Given the description of an element on the screen output the (x, y) to click on. 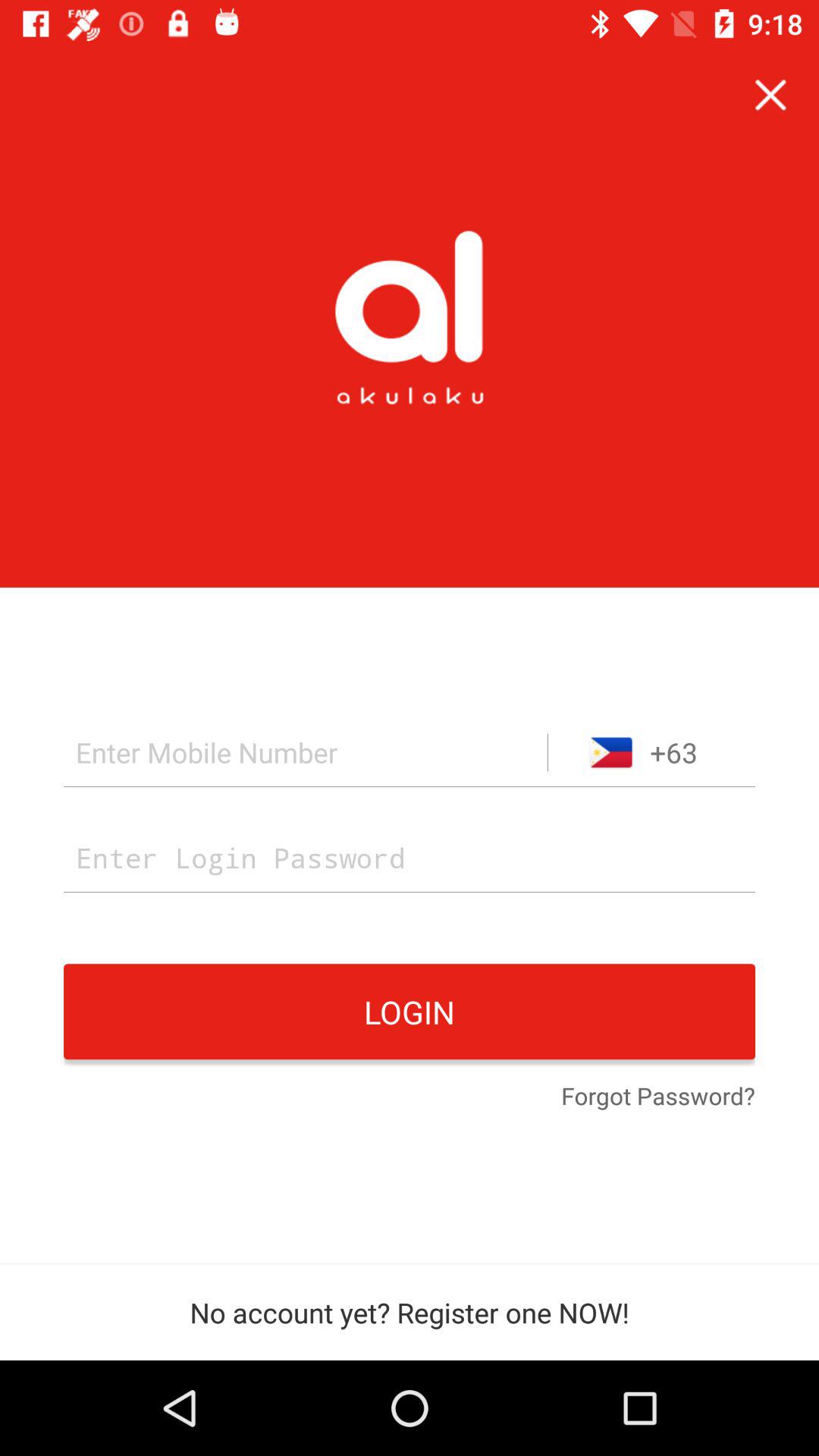
open the forgot password? (658, 1097)
